Given the description of an element on the screen output the (x, y) to click on. 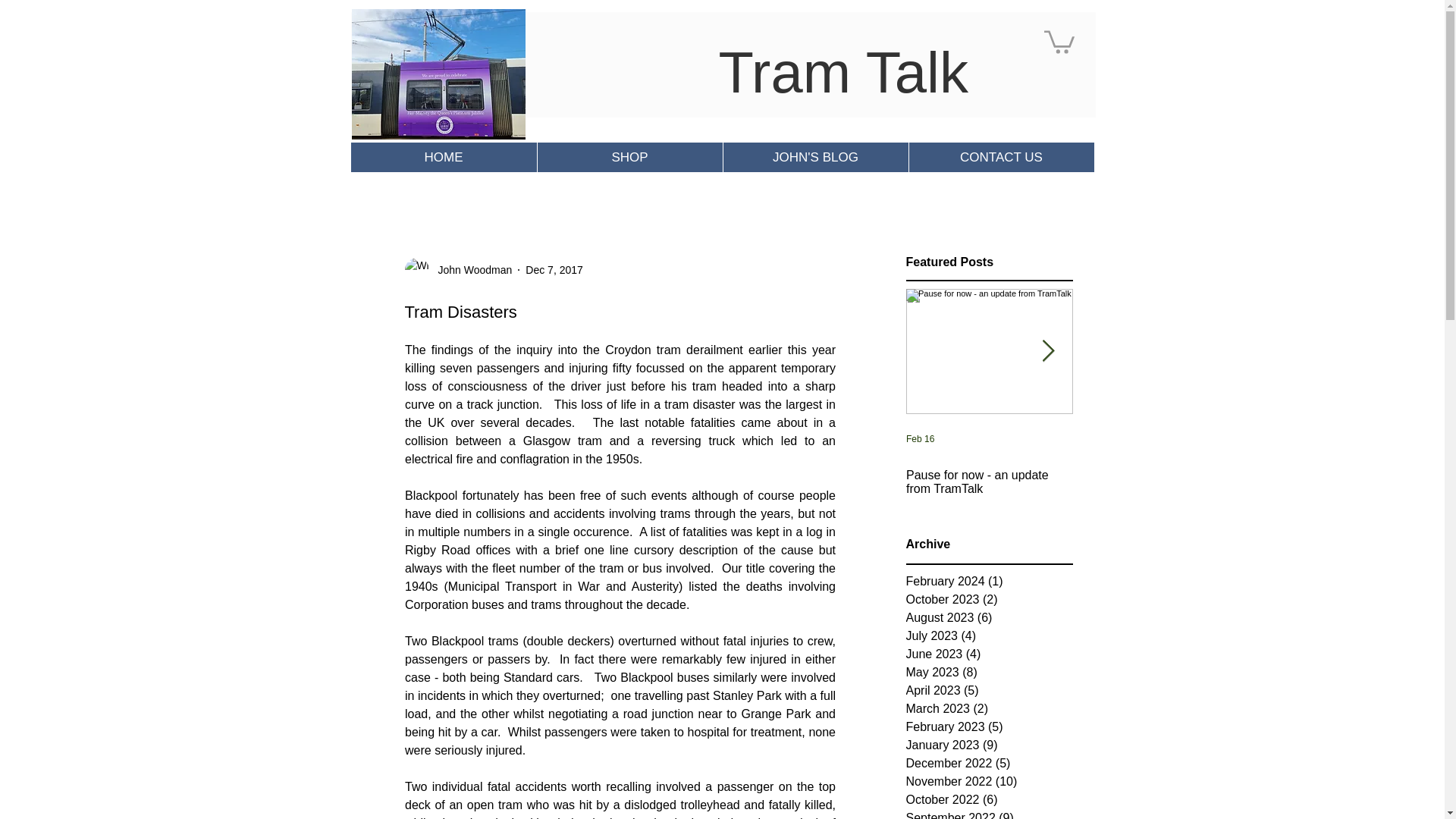
John Woodman (470, 270)
SHOP (629, 156)
Dec 7, 2017 (554, 269)
CONTACT US (1001, 156)
Pause for now - an update from TramTalk (988, 482)
Feb 16 (919, 439)
JOHN'S BLOG (814, 156)
HOME (442, 156)
New Year ... New Directions! (1155, 475)
Jan 2, 2021 (1095, 439)
